Given the description of an element on the screen output the (x, y) to click on. 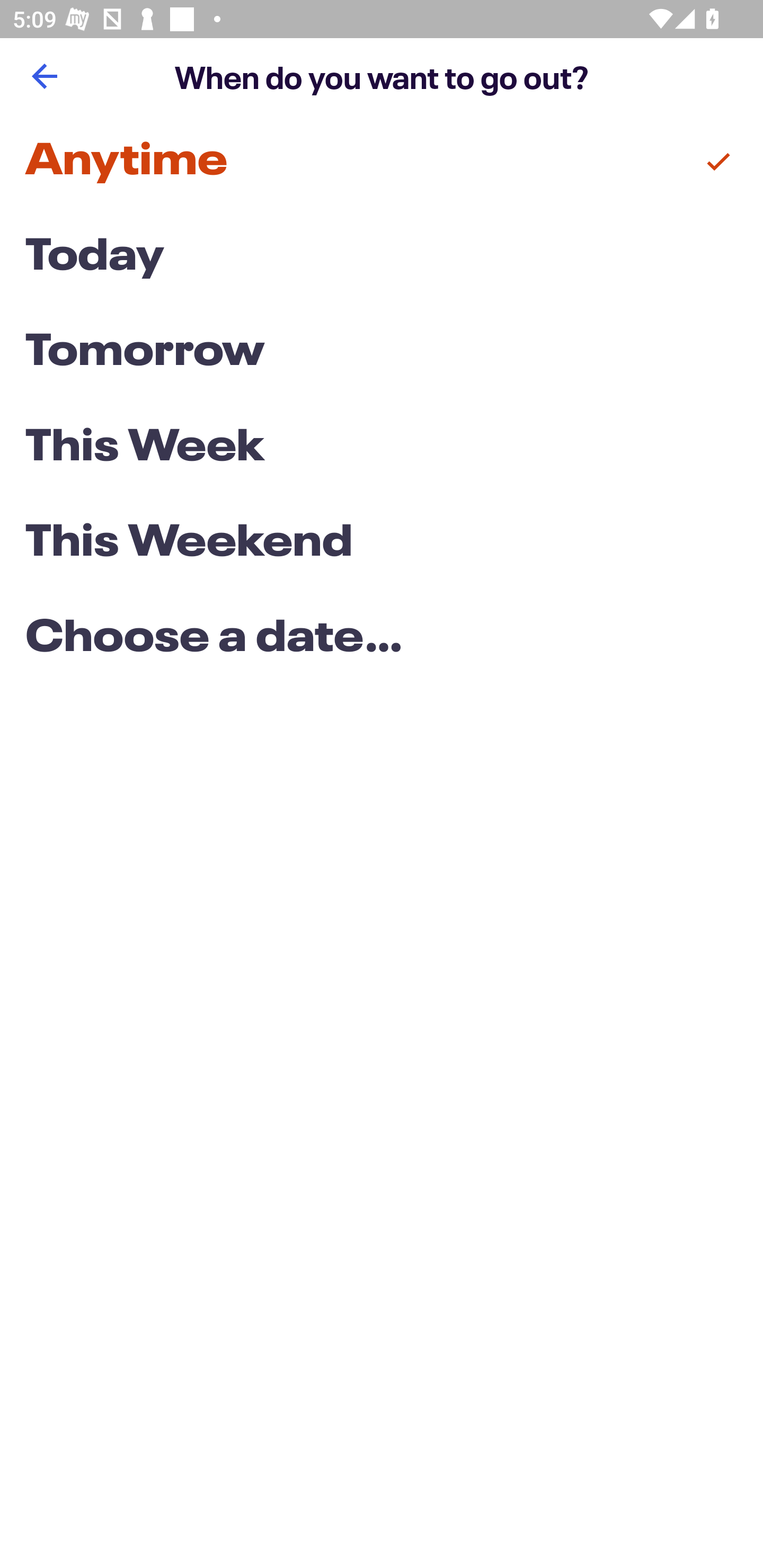
Back button (44, 75)
Anytime (381, 161)
Today (381, 257)
Tomorrow (381, 352)
This Week (381, 447)
This Weekend (381, 542)
Choose a date… (381, 638)
